Given the description of an element on the screen output the (x, y) to click on. 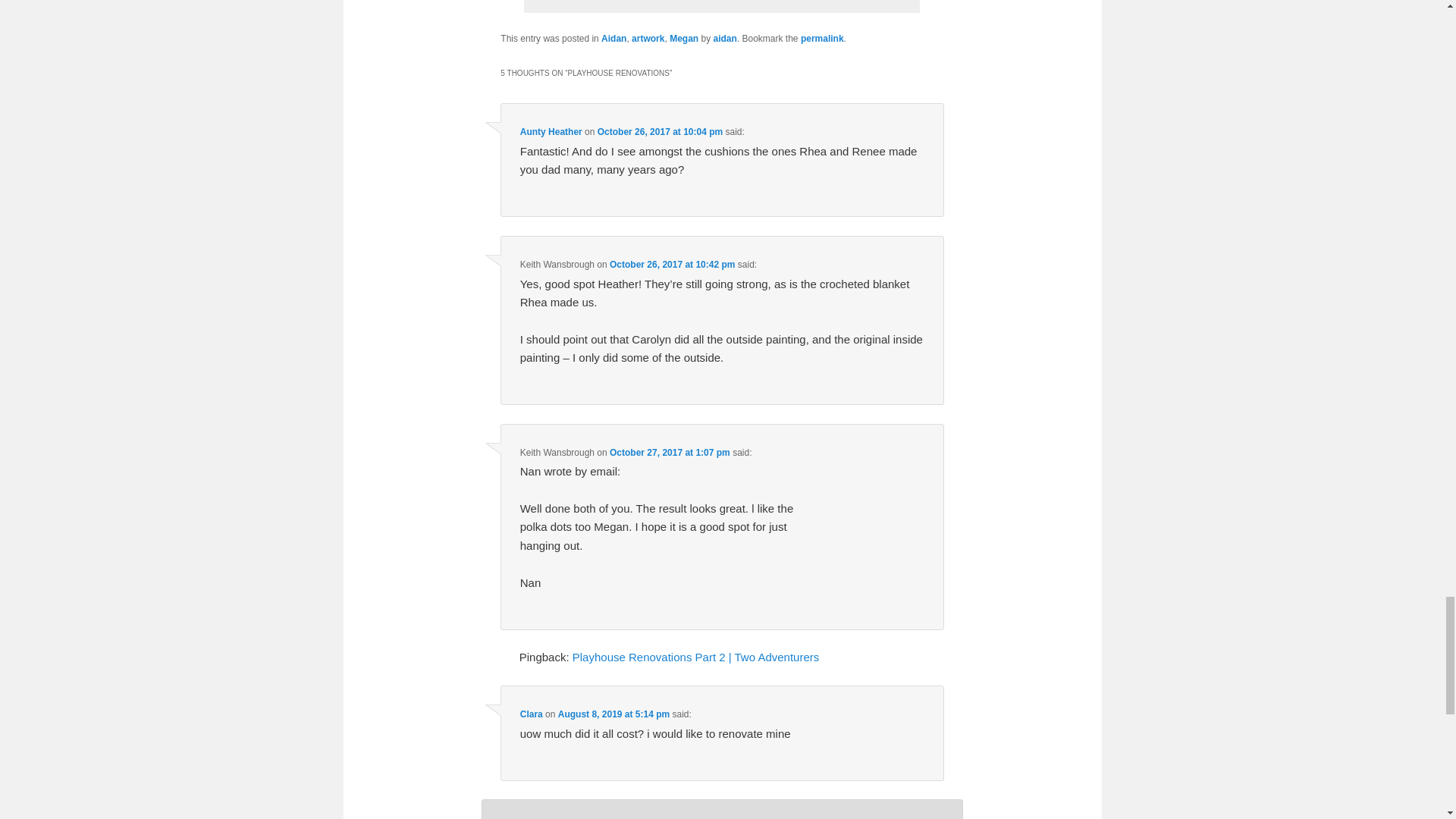
artwork (647, 38)
permalink (822, 38)
Megan (683, 38)
October 26, 2017 at 10:42 pm (672, 264)
October 27, 2017 at 1:07 pm (670, 452)
Aunty Heather (550, 131)
October 26, 2017 at 10:04 pm (659, 131)
Aidan (613, 38)
aidan (724, 38)
Permalink to Playhouse Renovations (822, 38)
